Given the description of an element on the screen output the (x, y) to click on. 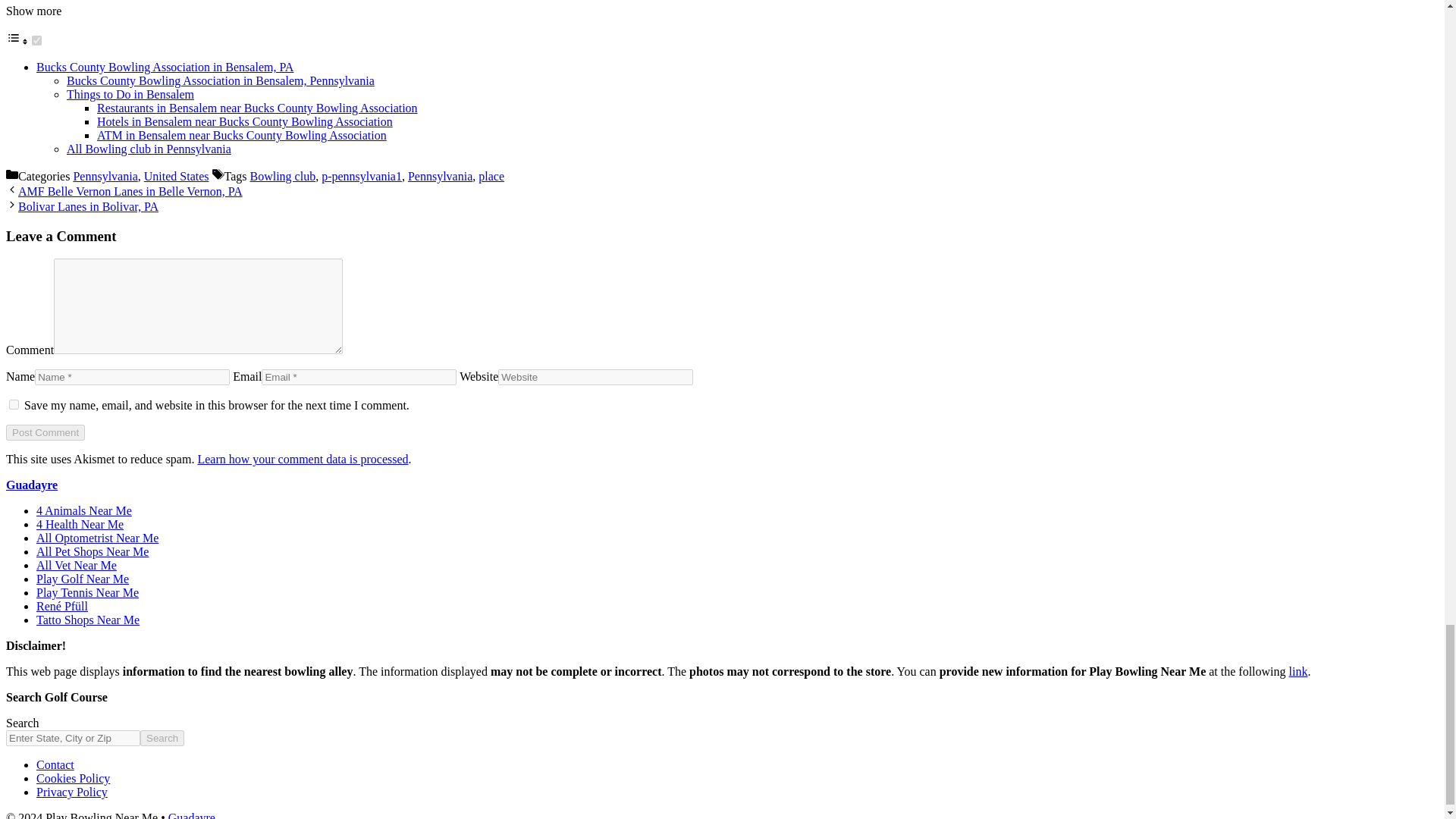
Things to Do in Bensalem (129, 93)
All Bowling club in Pennsylvania (148, 148)
Bucks County Bowling Association in Bensalem, PA (165, 66)
Hotels in Bensalem near Bucks County Bowling Association (245, 121)
Bucks County Bowling Association in Bensalem, Pennsylvania (220, 80)
ATM in Bensalem near Bucks County Bowling Association (242, 134)
on (37, 40)
Post Comment (44, 432)
yes (13, 404)
